Given the description of an element on the screen output the (x, y) to click on. 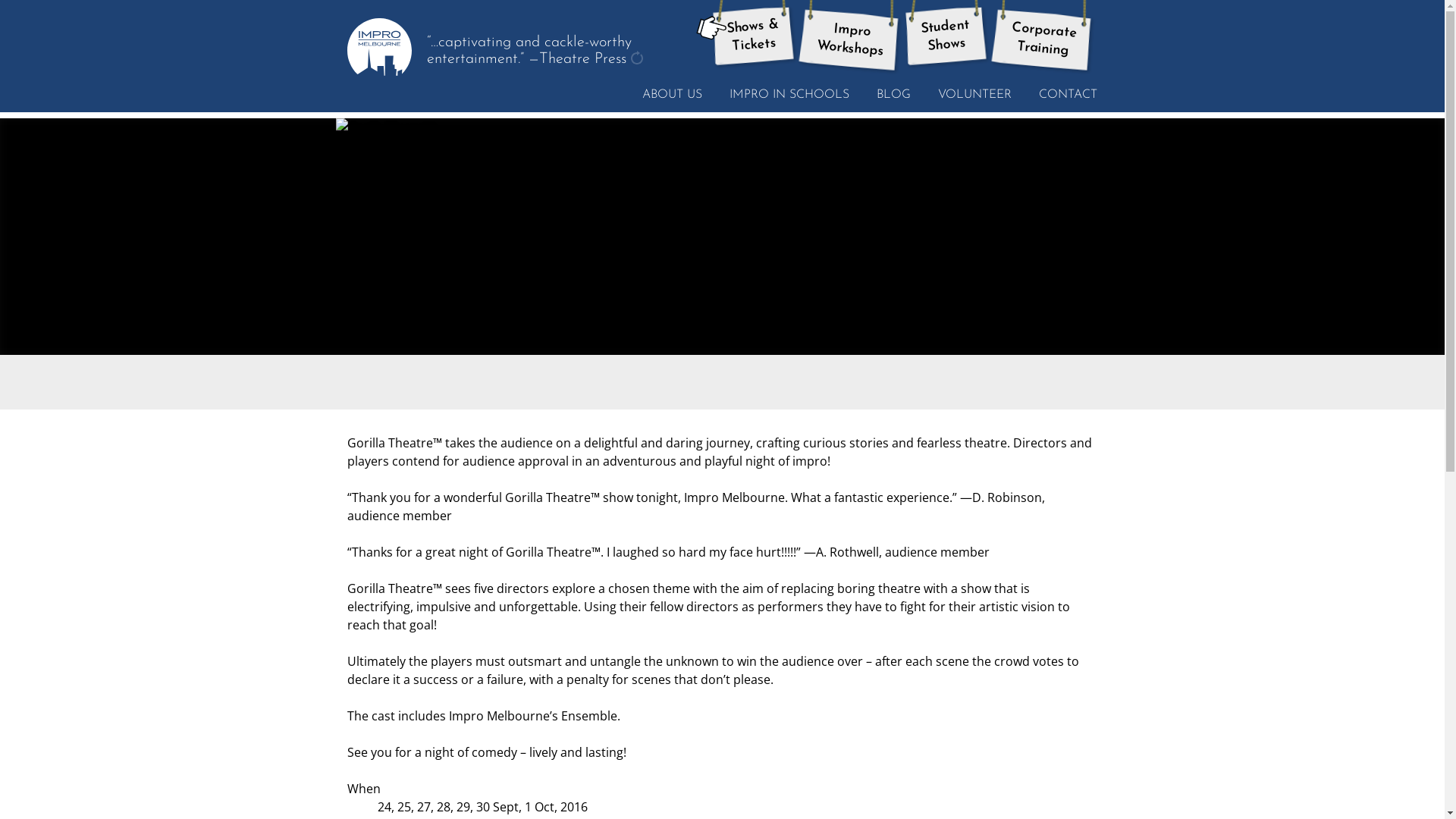
VOLUNTEER Element type: text (974, 93)
IMPRO IN SCHOOLS Element type: text (788, 93)
BLOG Element type: text (893, 93)
ABOUT US Element type: text (671, 93)
CONTACT Element type: text (1067, 93)
get another quote Element type: text (636, 57)
